Given the description of an element on the screen output the (x, y) to click on. 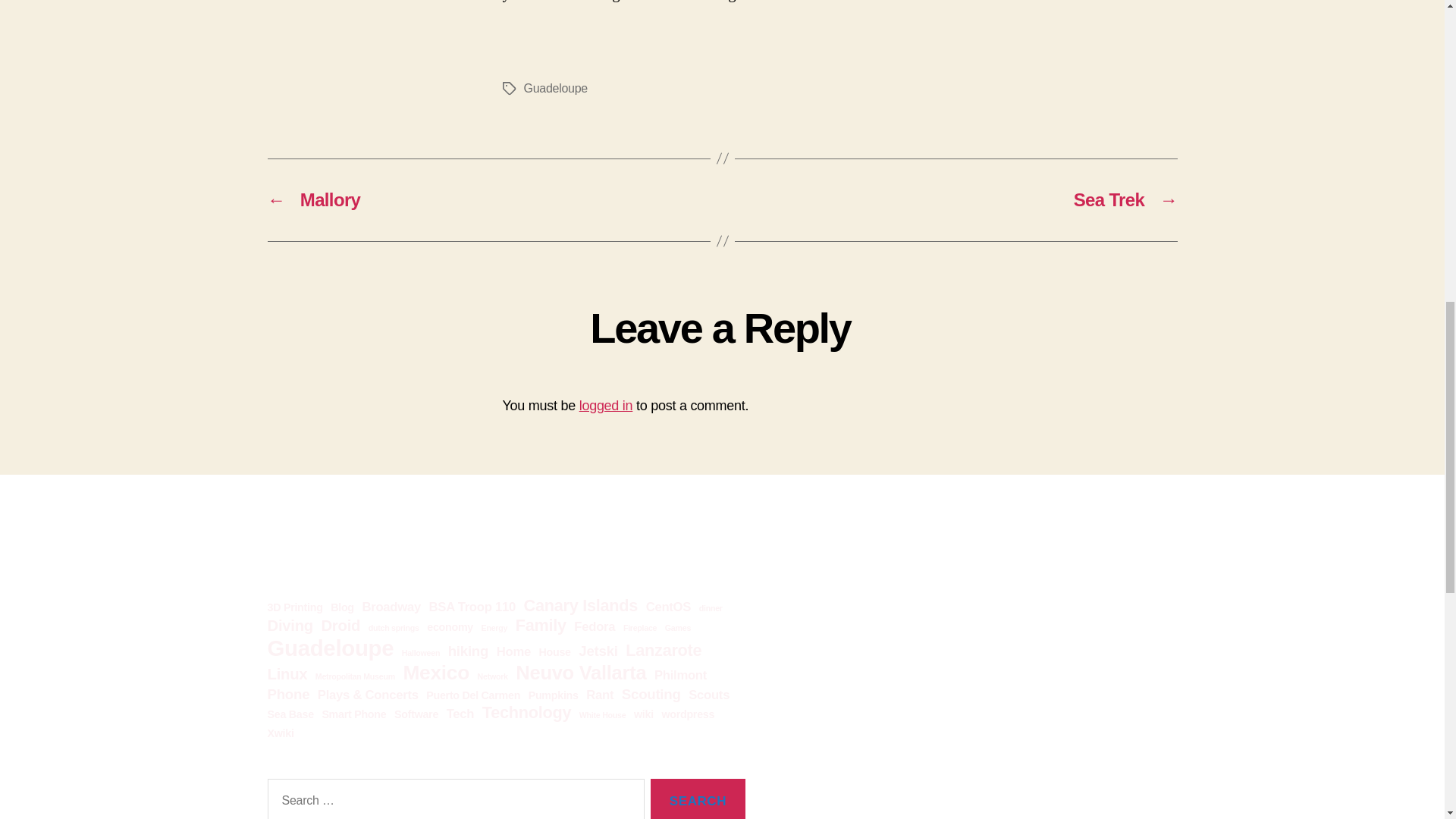
Search (697, 798)
Search (697, 798)
